Given the description of an element on the screen output the (x, y) to click on. 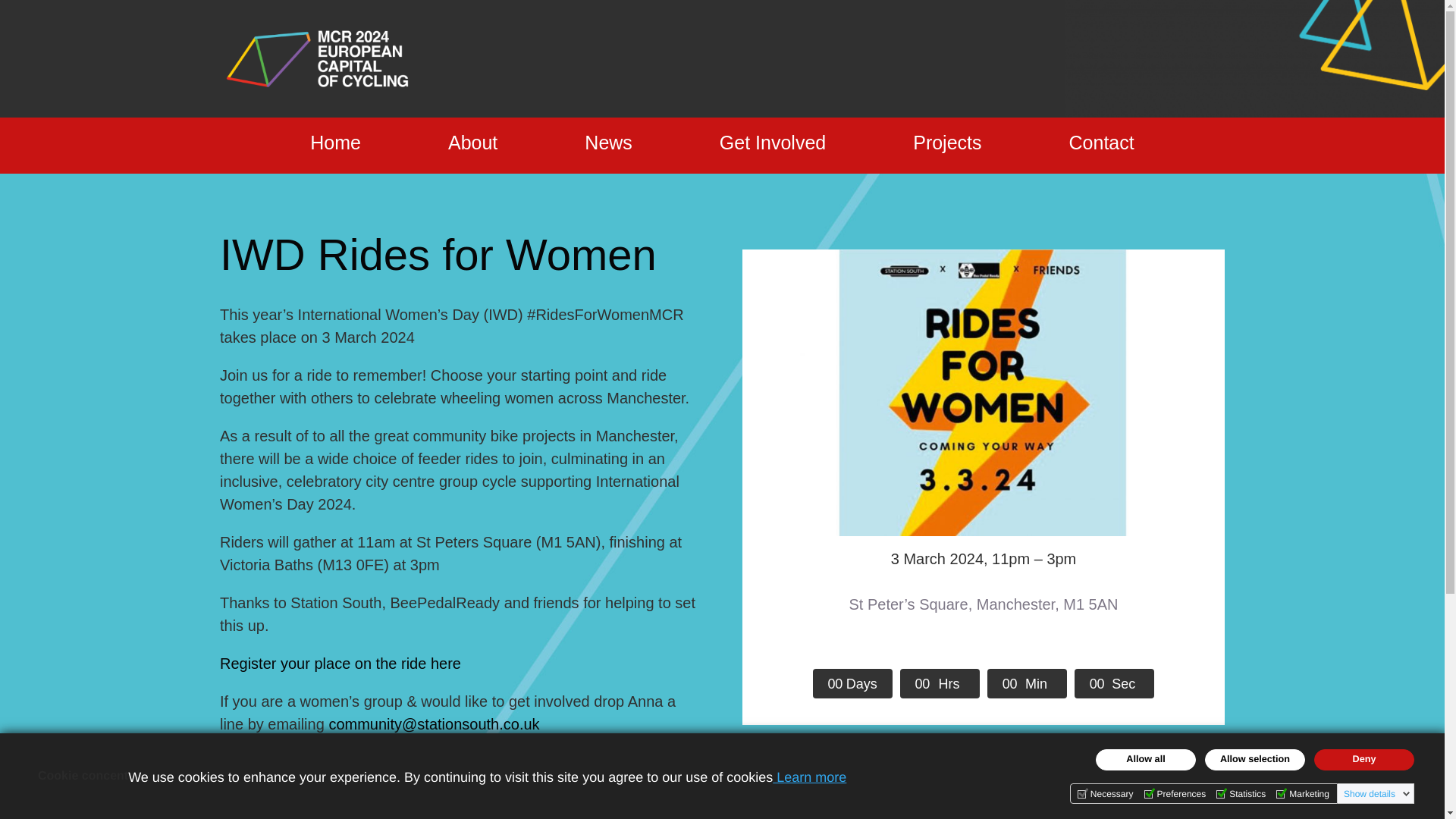
Mandatory - can not be deselected.  (1105, 793)
Allow selection (1254, 759)
Home (335, 143)
Show details (1376, 793)
Contact (1101, 143)
Get Involved (772, 143)
Projects (946, 143)
News (608, 143)
About (472, 143)
Deny (1363, 759)
Allow all (1145, 759)
 Learn more (809, 776)
